Given the description of an element on the screen output the (x, y) to click on. 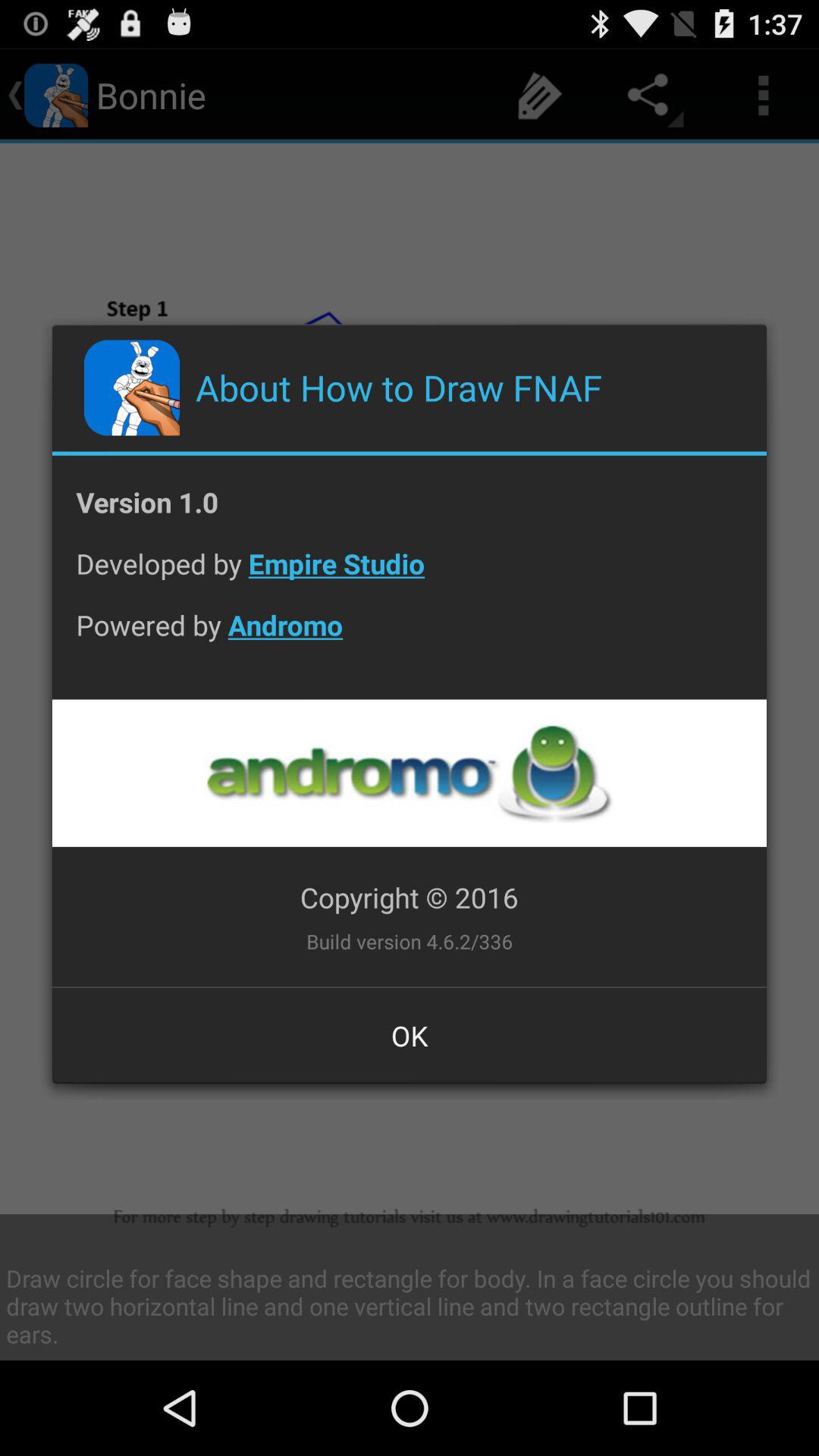
open the item above the powered by andromo app (409, 575)
